Given the description of an element on the screen output the (x, y) to click on. 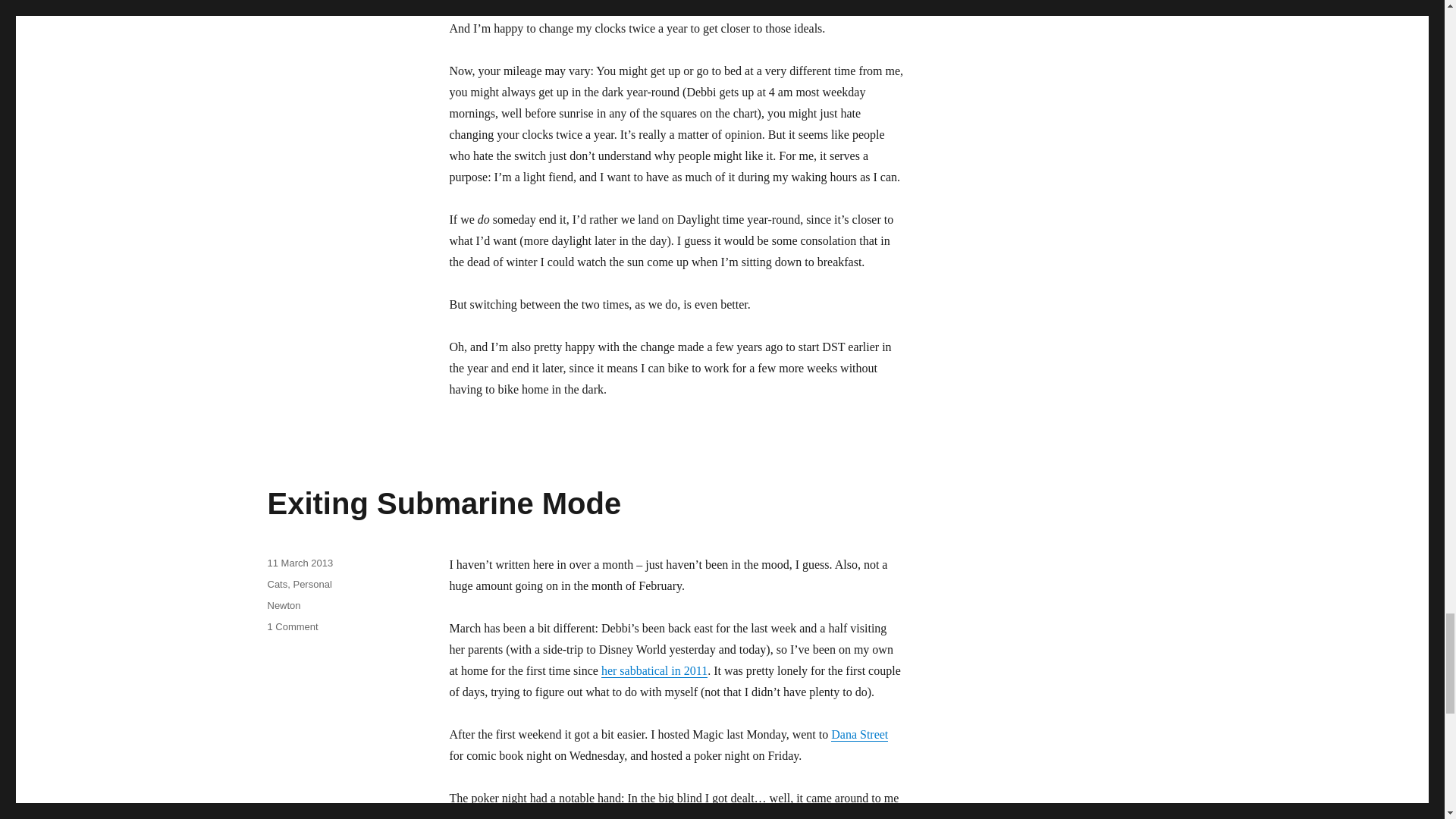
Dana Street (859, 734)
Personal (311, 583)
her sabbatical in 2011 (654, 670)
Exiting Submarine Mode (291, 626)
Newton (443, 503)
11 March 2013 (282, 604)
Cats (299, 562)
